Given the description of an element on the screen output the (x, y) to click on. 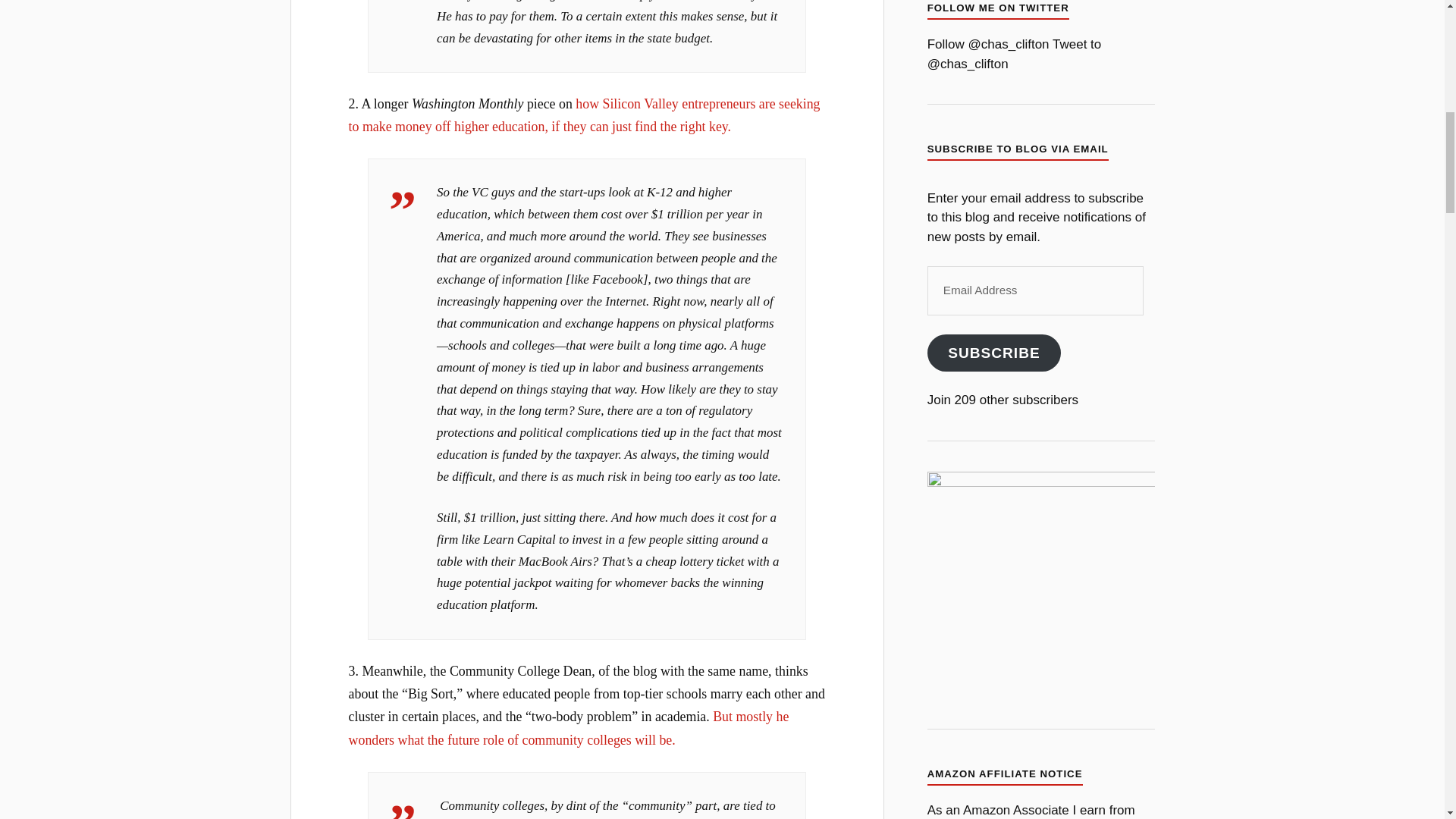
SUBSCRIBE (994, 352)
